Given the description of an element on the screen output the (x, y) to click on. 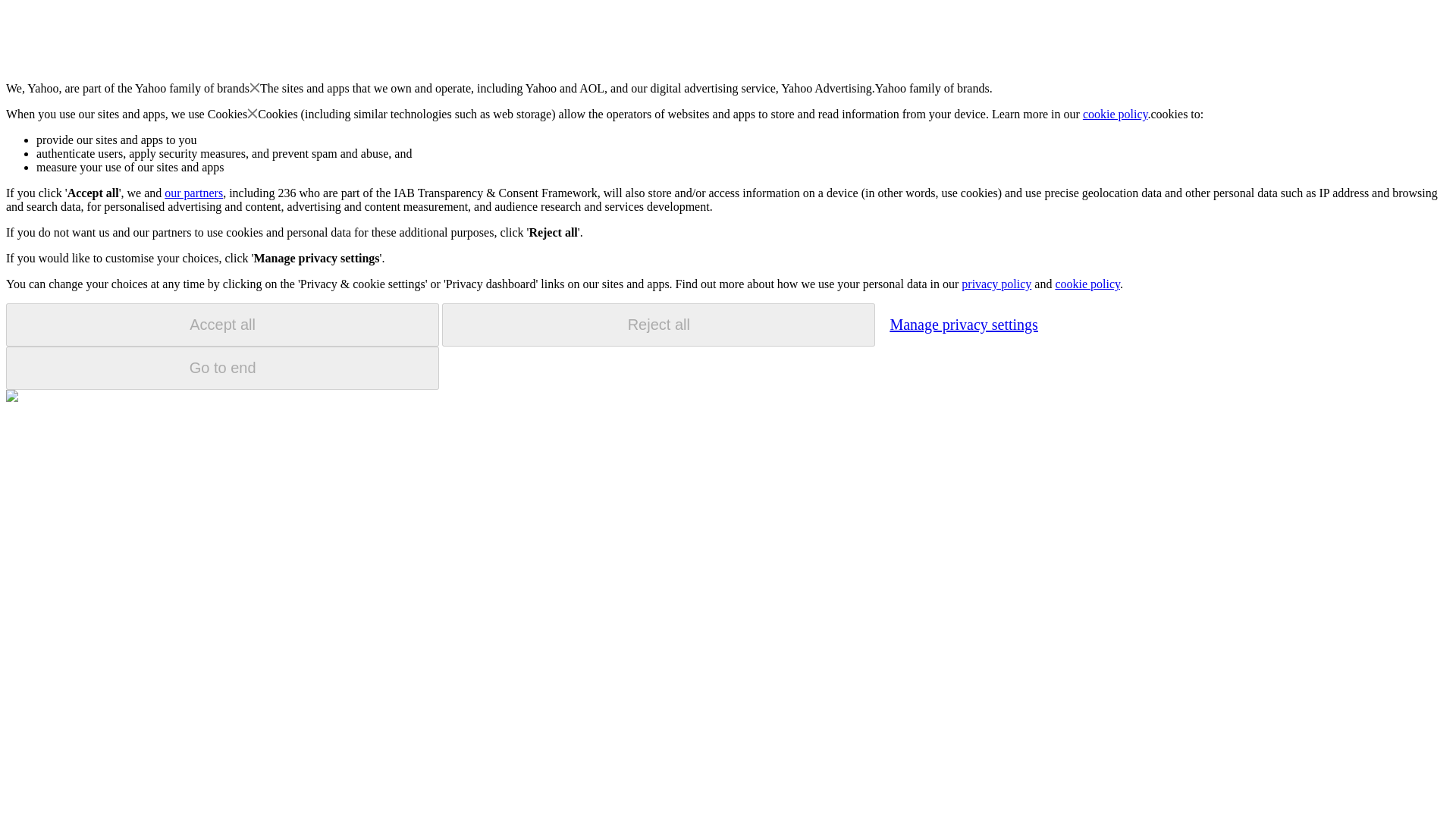
Reject all (658, 324)
cookie policy (1115, 113)
privacy policy (995, 283)
Go to end (222, 367)
cookie policy (1086, 283)
our partners (193, 192)
Manage privacy settings (963, 323)
Accept all (222, 324)
